Given the description of an element on the screen output the (x, y) to click on. 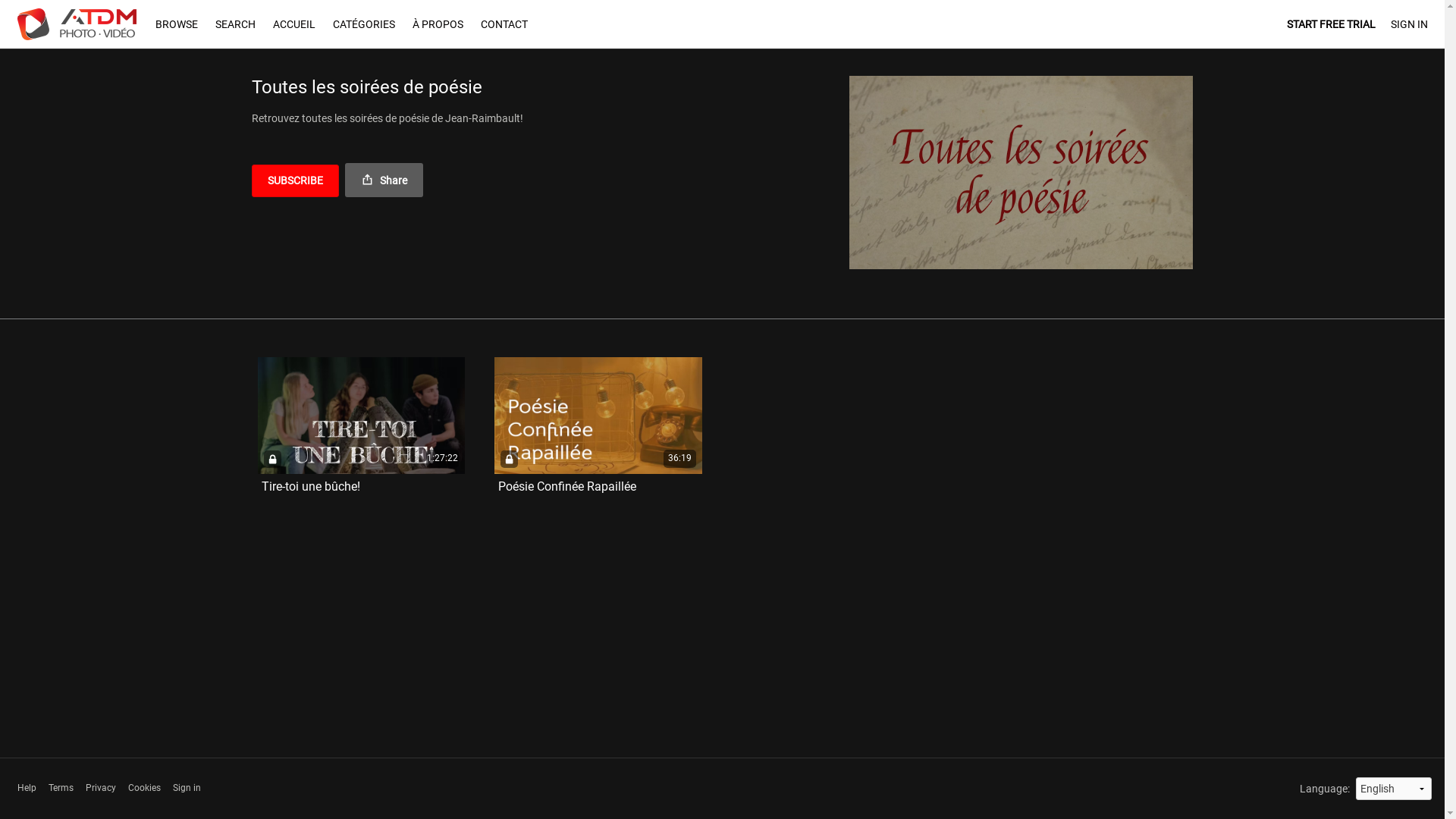
Privacy Element type: text (99, 787)
ACCUEIL Element type: text (294, 24)
1:27:22 Element type: text (361, 415)
36:19 Element type: text (598, 415)
Share Element type: text (384, 179)
SUBSCRIBE Element type: text (294, 180)
Sign in Element type: text (186, 787)
START FREE TRIAL Element type: text (1330, 24)
CONTACT Element type: text (504, 24)
SIGN IN Element type: text (1408, 24)
Help Element type: text (25, 787)
Terms Element type: text (60, 787)
BROWSE Element type: text (177, 24)
SEARCH Element type: text (236, 24)
Cookies Element type: text (143, 787)
Skip to main content Element type: text (48, 7)
